Given the description of an element on the screen output the (x, y) to click on. 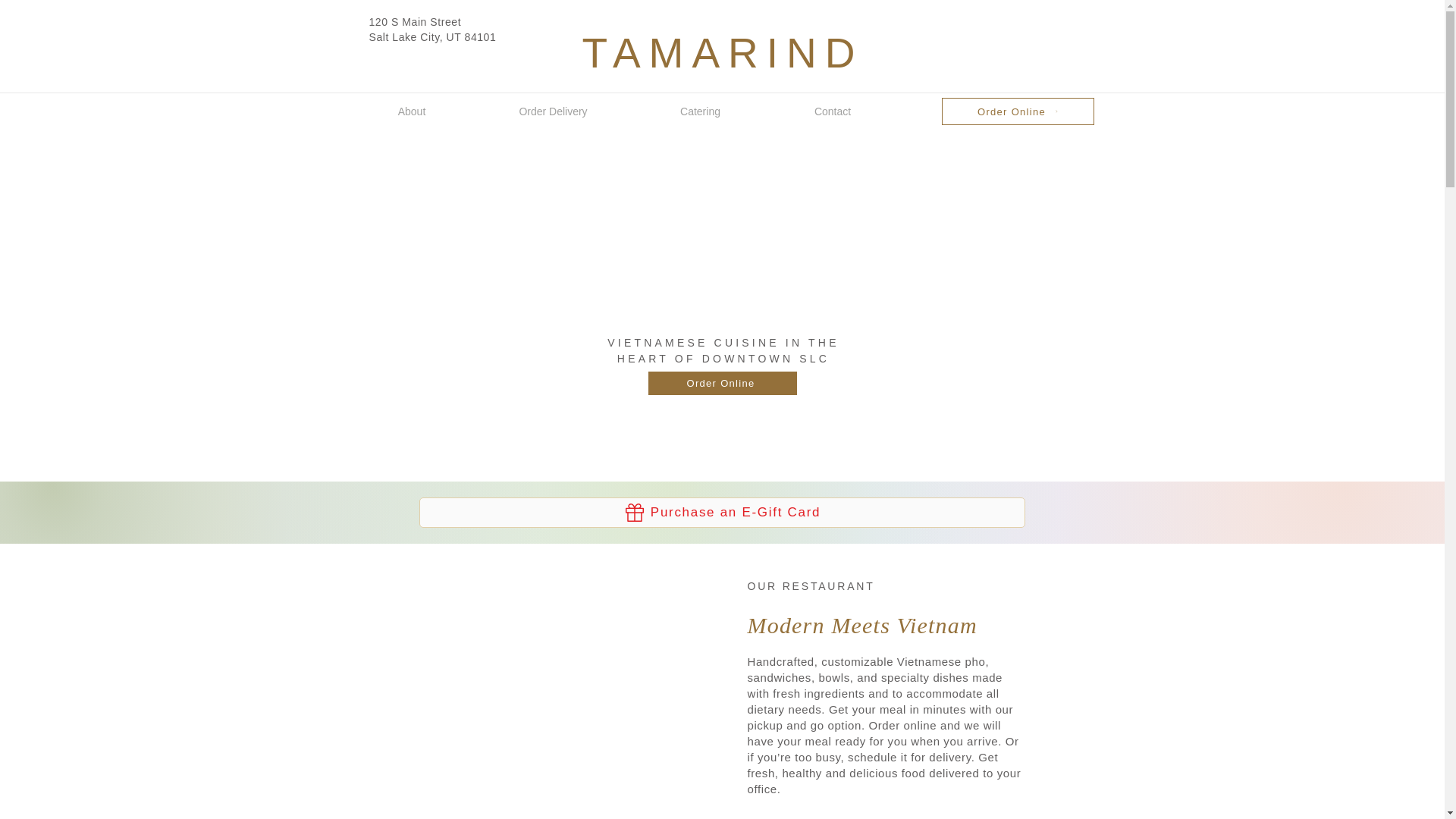
Order Delivery (553, 111)
Contact (832, 111)
Order Online (1018, 111)
About (410, 111)
Purchase an E-Gift Card (722, 512)
TAMARIND (721, 52)
Catering (699, 111)
Order Online (721, 382)
